Given the description of an element on the screen output the (x, y) to click on. 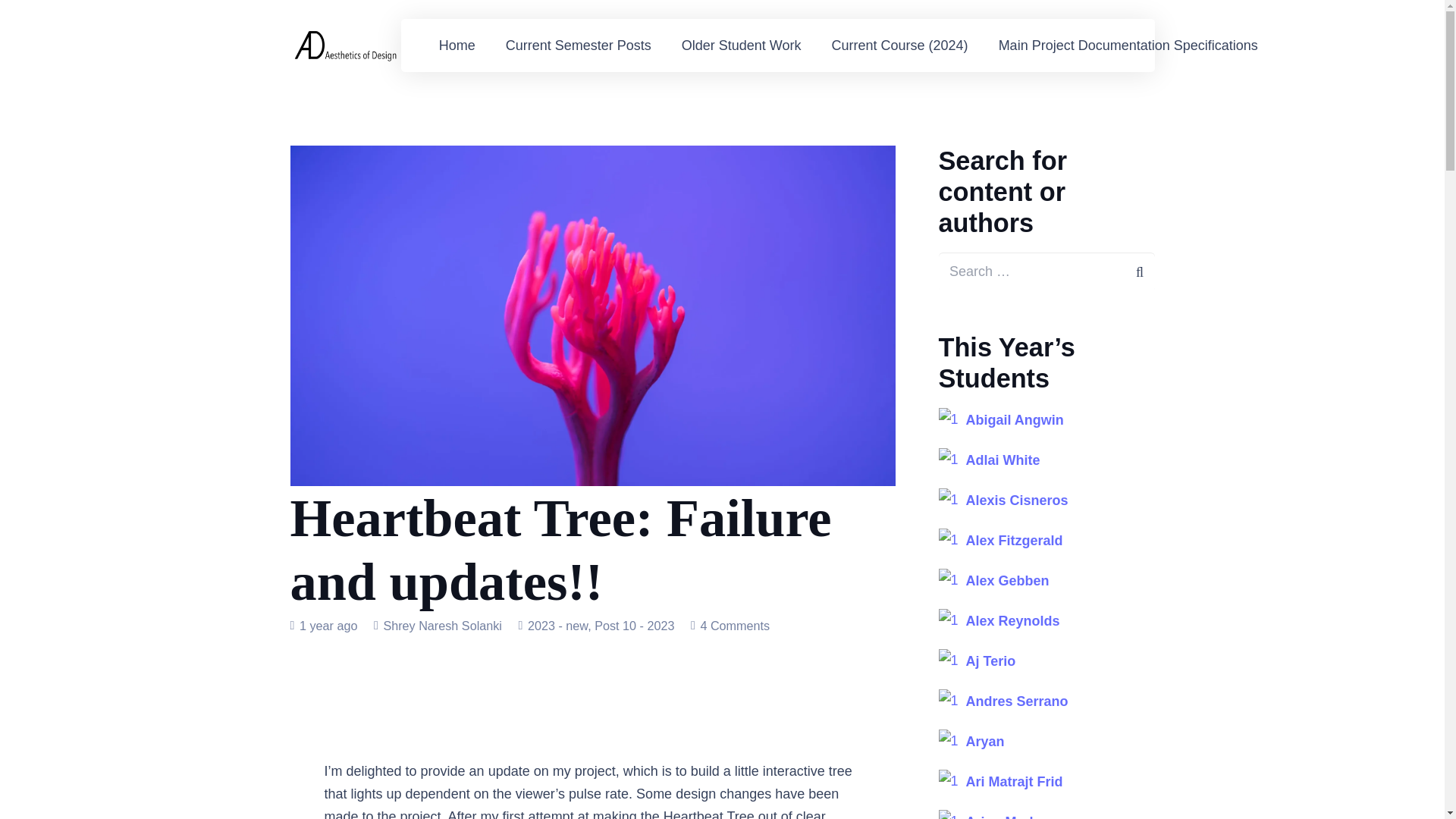
Older Student Work (741, 45)
4 Comments (735, 625)
Home (456, 45)
Current Semester Posts (578, 45)
